Given the description of an element on the screen output the (x, y) to click on. 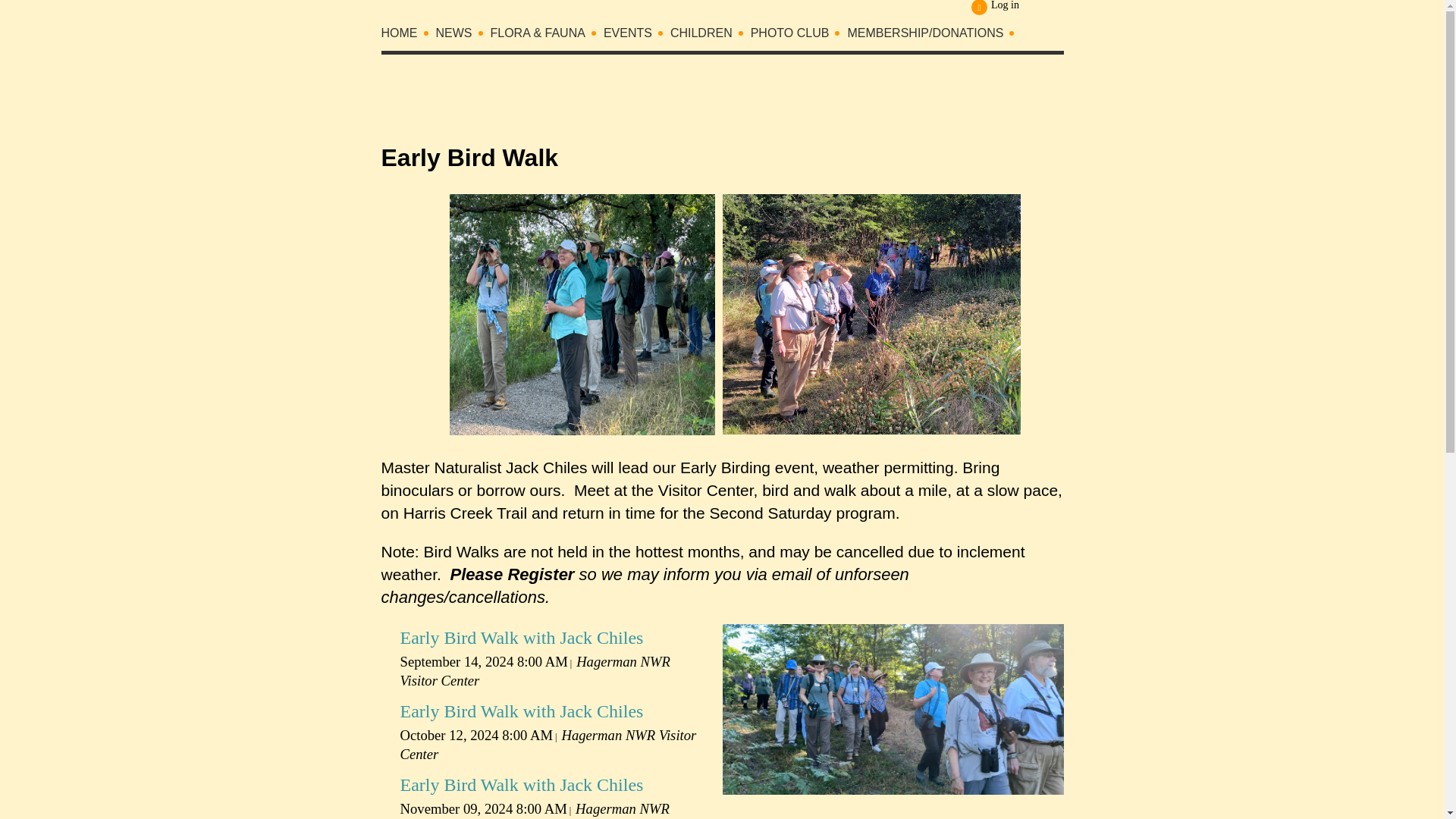
EVENTS (636, 36)
Home (407, 36)
News (462, 36)
Log in (995, 7)
CHILDREN (710, 36)
NEWS (462, 36)
HOME (407, 36)
